Given the description of an element on the screen output the (x, y) to click on. 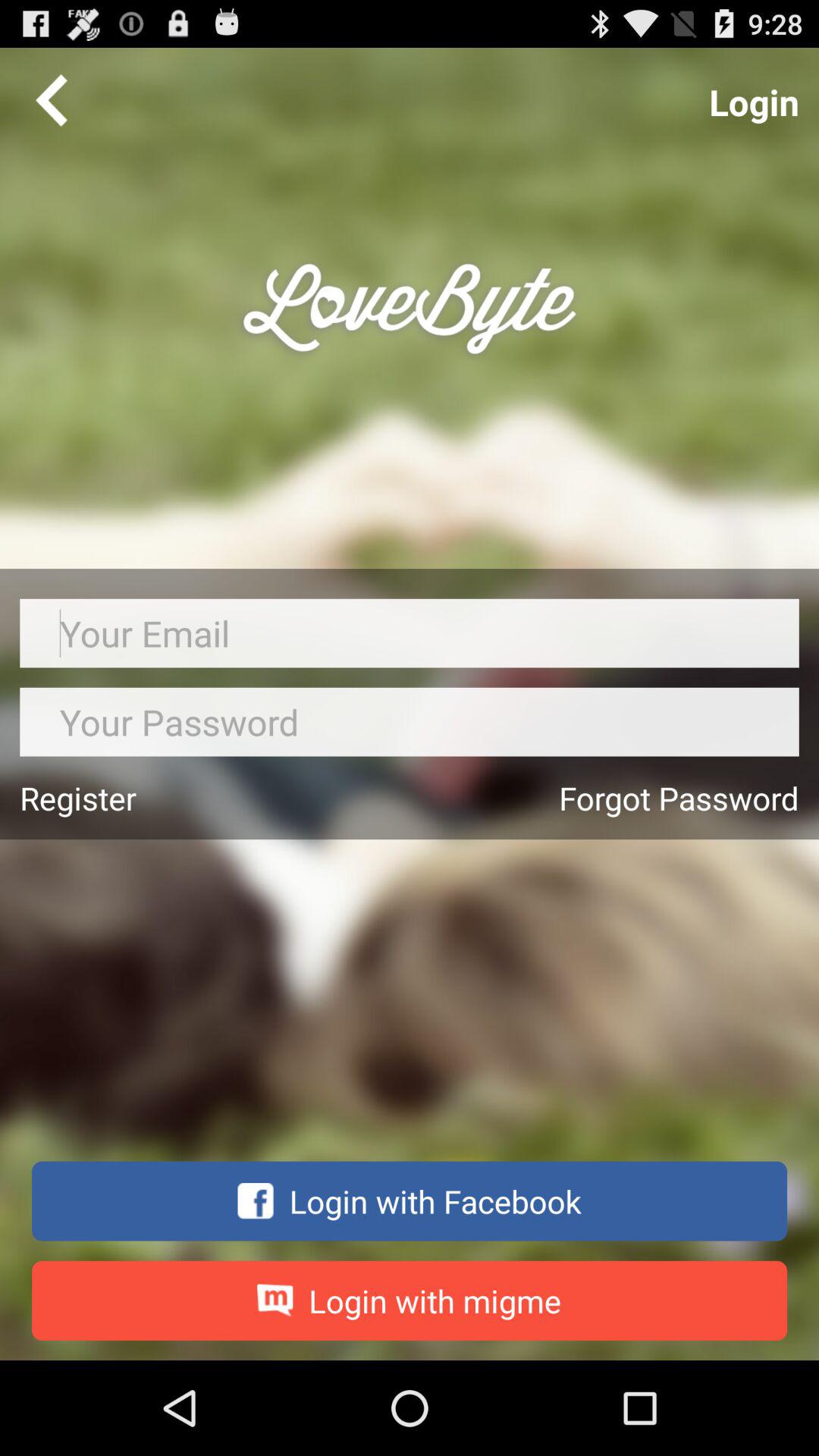
email input field (409, 632)
